Given the description of an element on the screen output the (x, y) to click on. 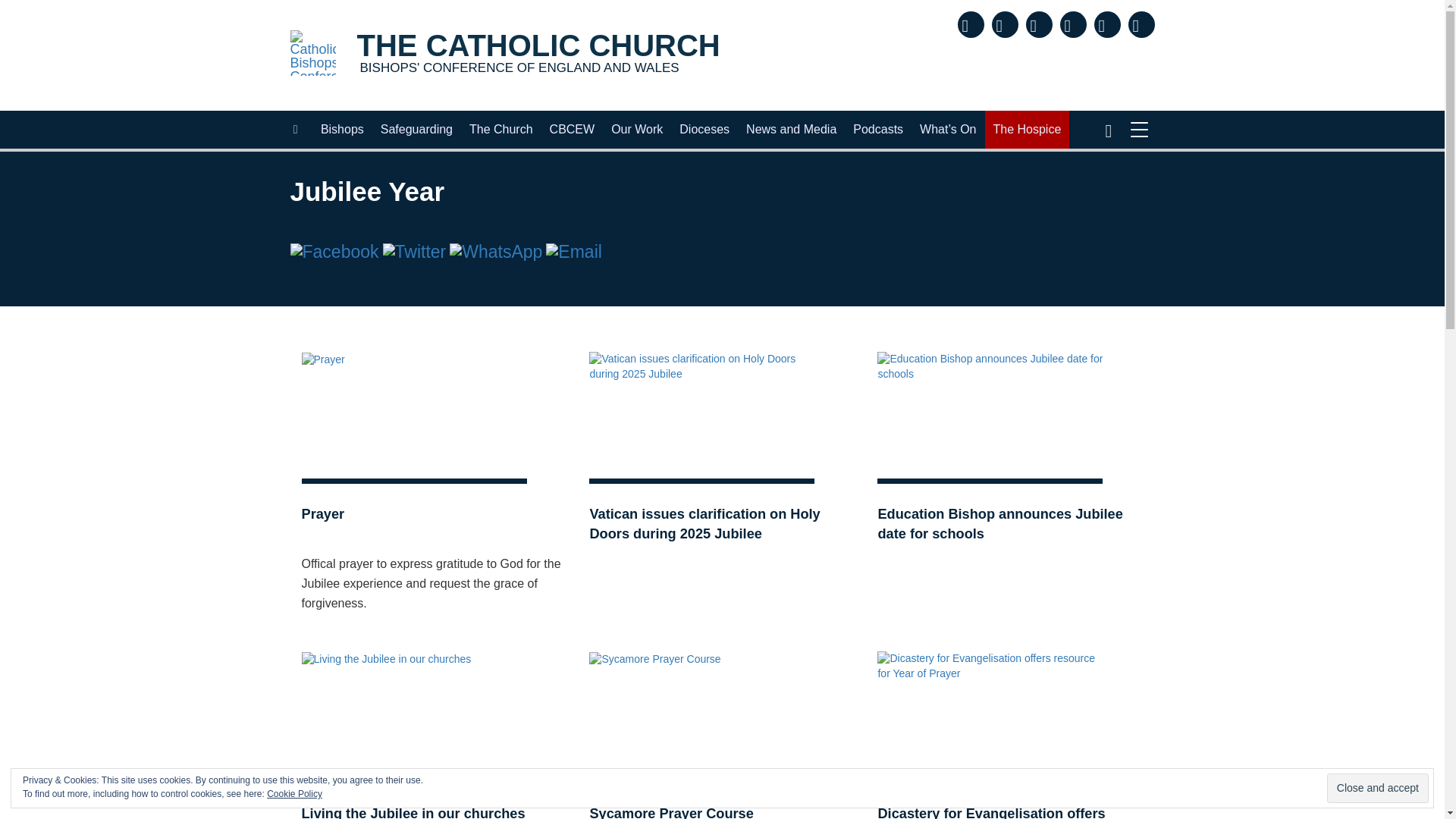
Close and accept (504, 55)
CBCEW (1377, 788)
Safeguarding (572, 129)
Bishops (416, 129)
The Church (342, 129)
